Given the description of an element on the screen output the (x, y) to click on. 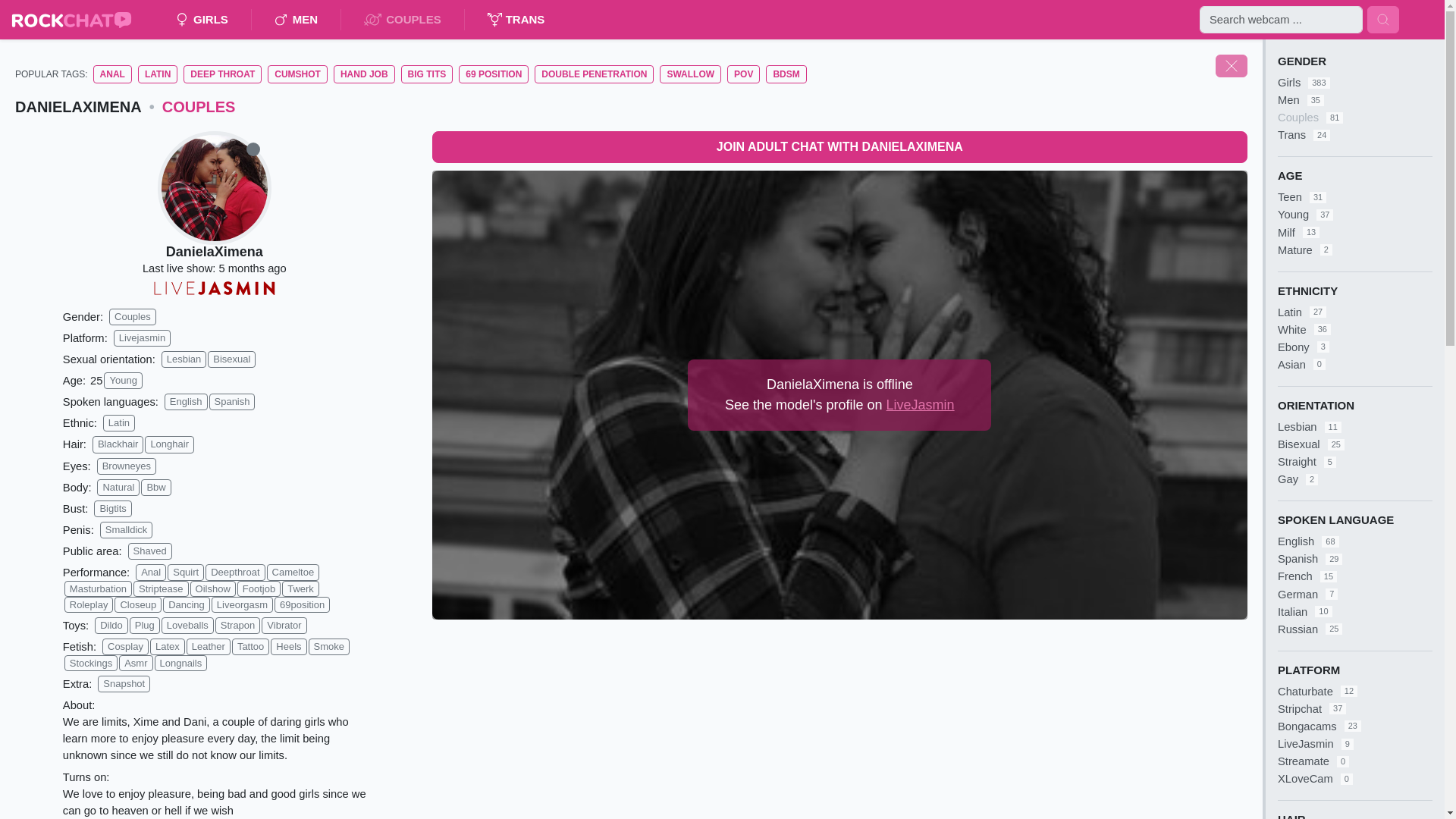
CUMSHOT (297, 74)
Bigtits (112, 508)
GIRLS (201, 20)
TRANS (515, 20)
SWALLOW (689, 74)
BDSM (785, 74)
ANAL (112, 74)
POV (743, 74)
English (186, 401)
Bisexual (232, 359)
Latin (119, 422)
Lesbian (183, 359)
Bbw (155, 487)
MEN (295, 20)
DanielaXimena (214, 251)
